Given the description of an element on the screen output the (x, y) to click on. 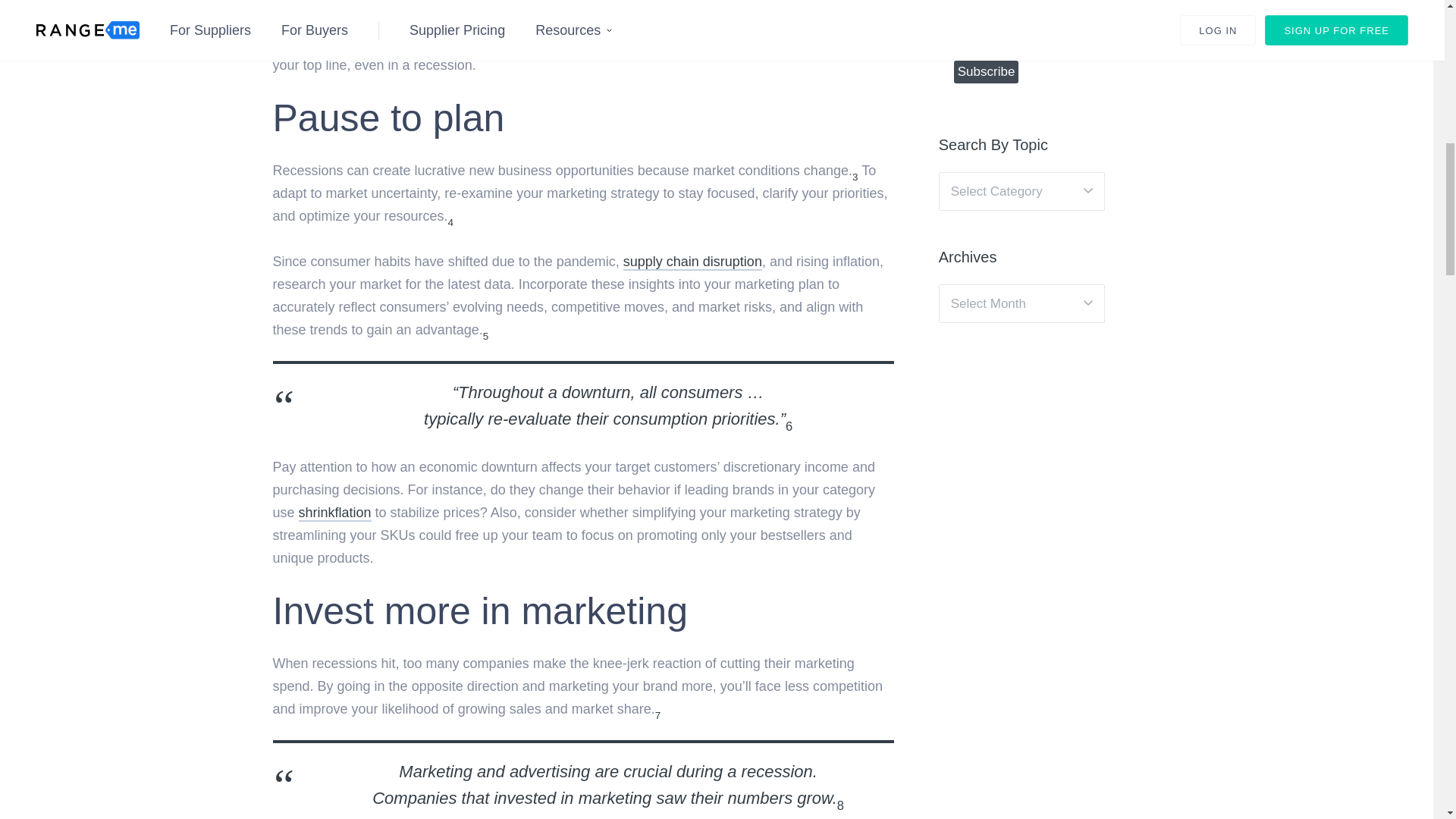
Subscribe (986, 71)
supply chain disruption (692, 262)
Email (1029, 33)
